Given the description of an element on the screen output the (x, y) to click on. 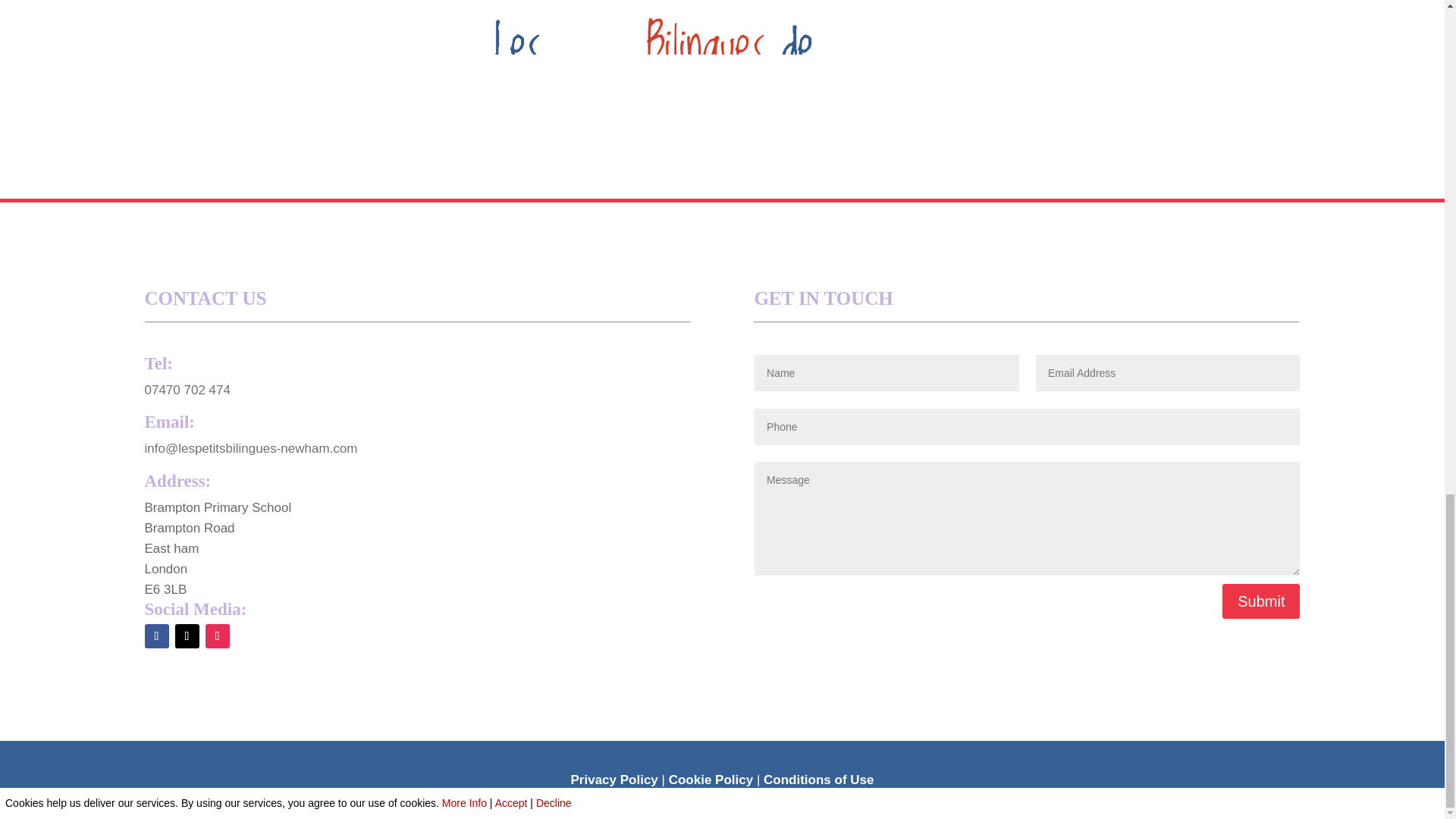
07470 702 474 (187, 390)
Follow on Instagram (216, 636)
Follow on Facebook (156, 636)
Cookie Policy (710, 780)
Submit (1261, 601)
Privacy Policy (614, 780)
Follow on X (186, 636)
Conditions of Use (817, 780)
